Given the description of an element on the screen output the (x, y) to click on. 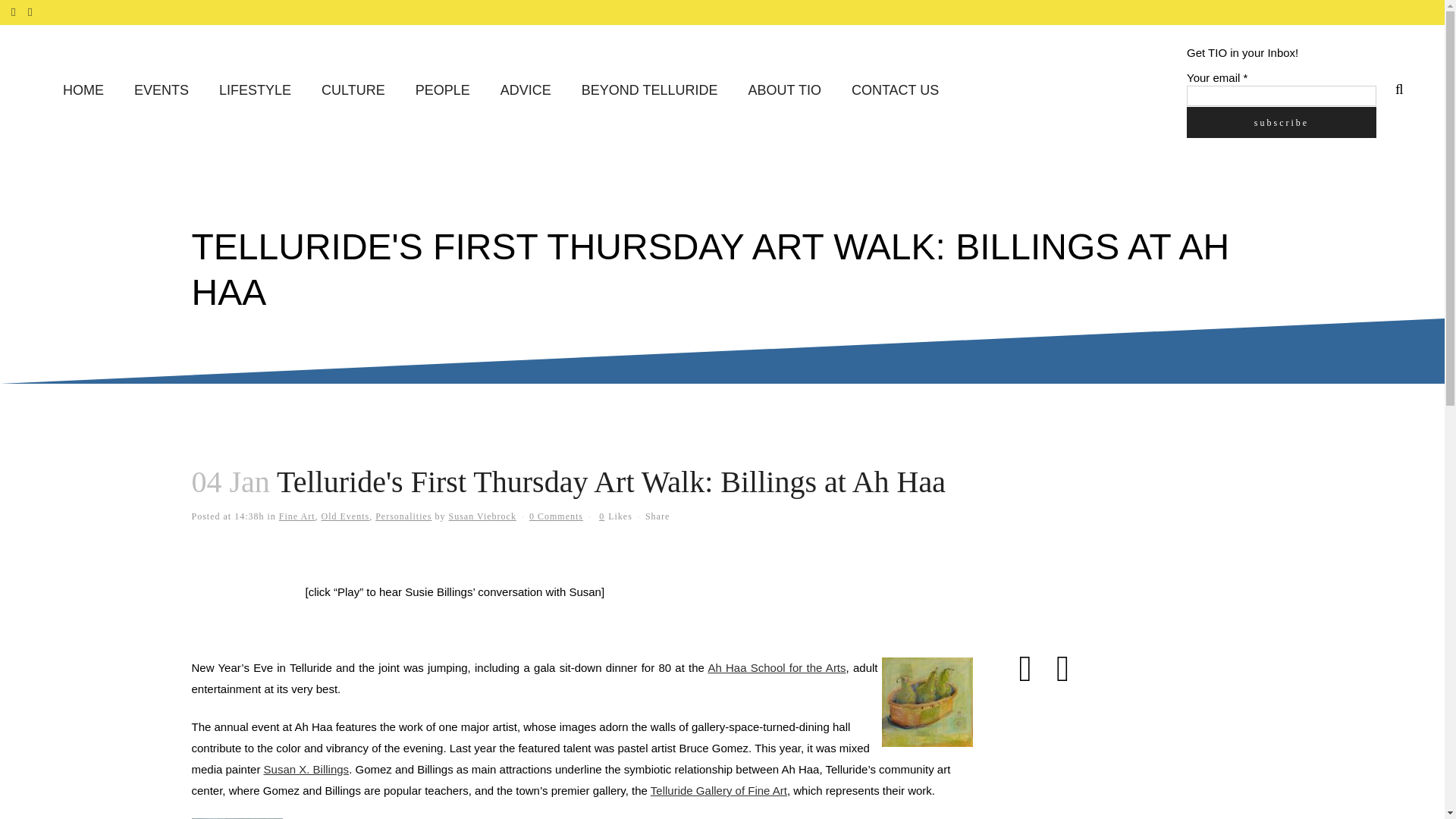
Subscribe (1280, 121)
3rd party ad content (1116, 760)
3rd party ad content (1116, 524)
Like this (614, 516)
BEYOND TELLURIDE (649, 90)
Subscribe (1280, 121)
Green pears copy (926, 701)
CONTACT US (894, 90)
Your email (1280, 95)
